Given the description of an element on the screen output the (x, y) to click on. 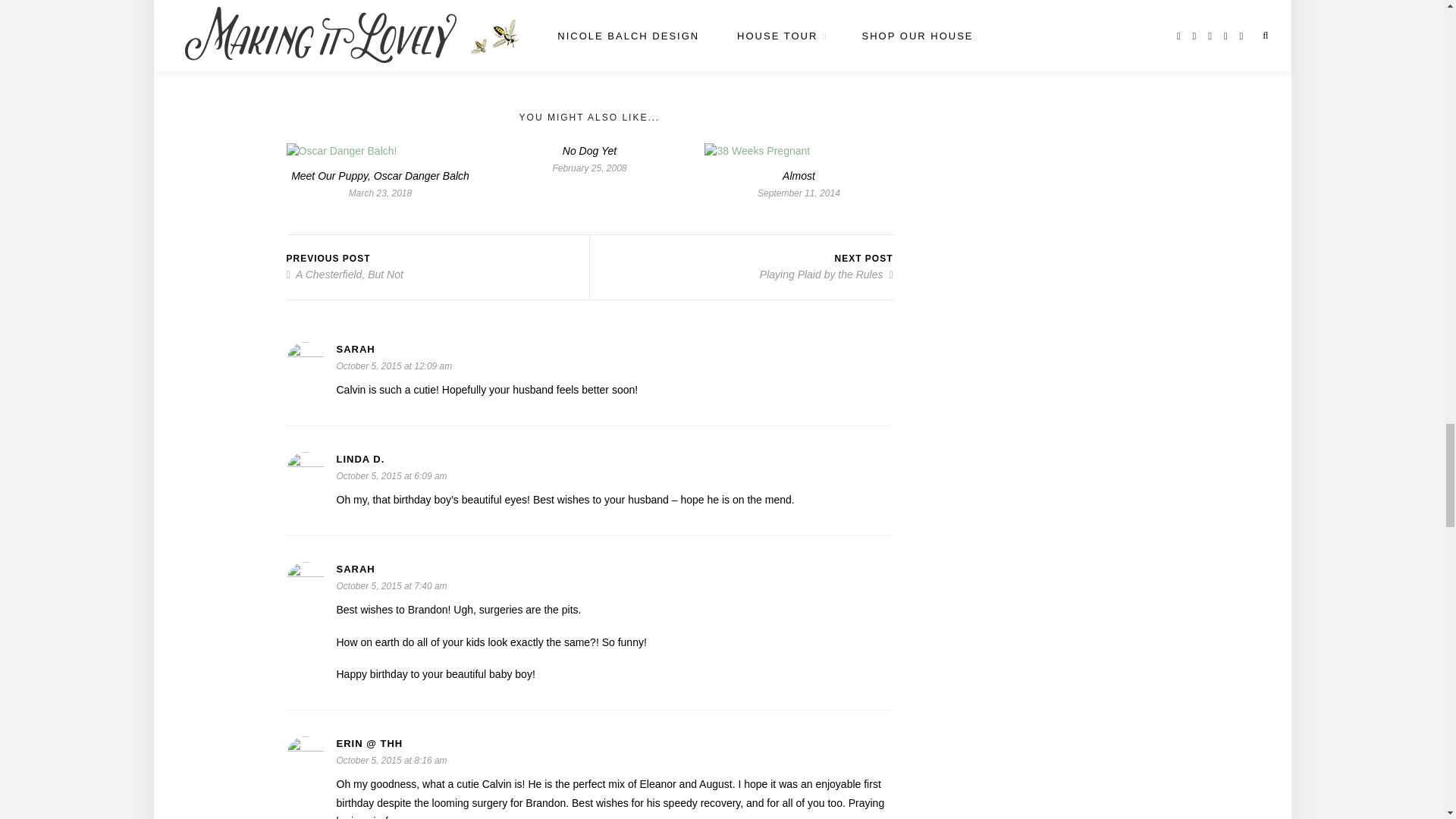
Playing Plaid by the Rules (826, 274)
Almost (799, 175)
Meet Our Puppy, Oscar Danger Balch (379, 175)
No Dog Yet (588, 150)
A Chesterfield, But Not (344, 274)
